Given the description of an element on the screen output the (x, y) to click on. 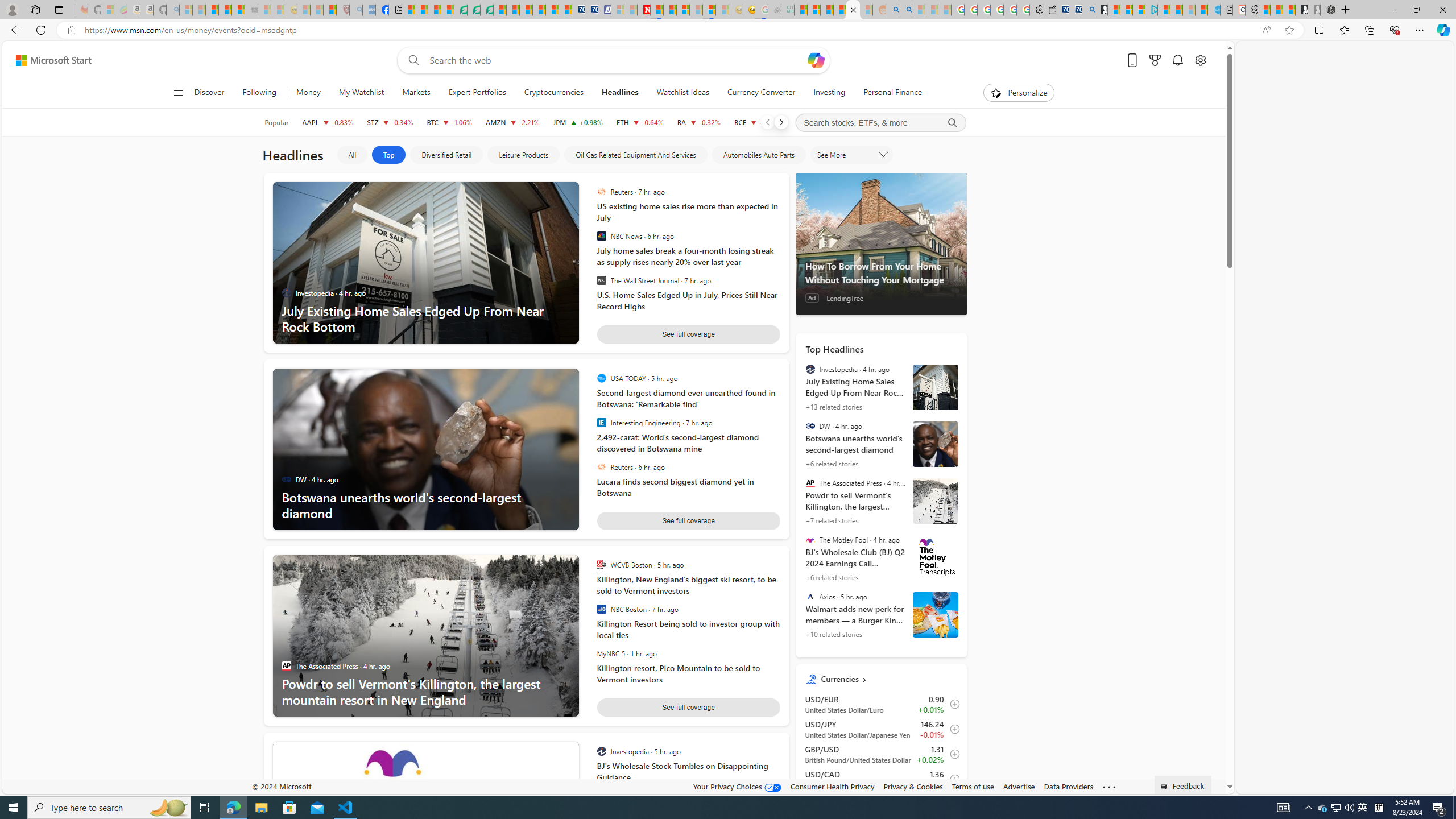
Ad (812, 298)
AMZN AMAZON.COM, INC. decrease 176.13 -3.98 -2.21% (512, 122)
Investopedia 4 hr. ago (330, 293)
Discover (213, 92)
Navy Quest (774, 9)
MarketWatch 7 hr. ago (685, 795)
Cheap Hotels - Save70.com (590, 9)
Microsoft Start (53, 60)
Investing (829, 92)
